Given the description of an element on the screen output the (x, y) to click on. 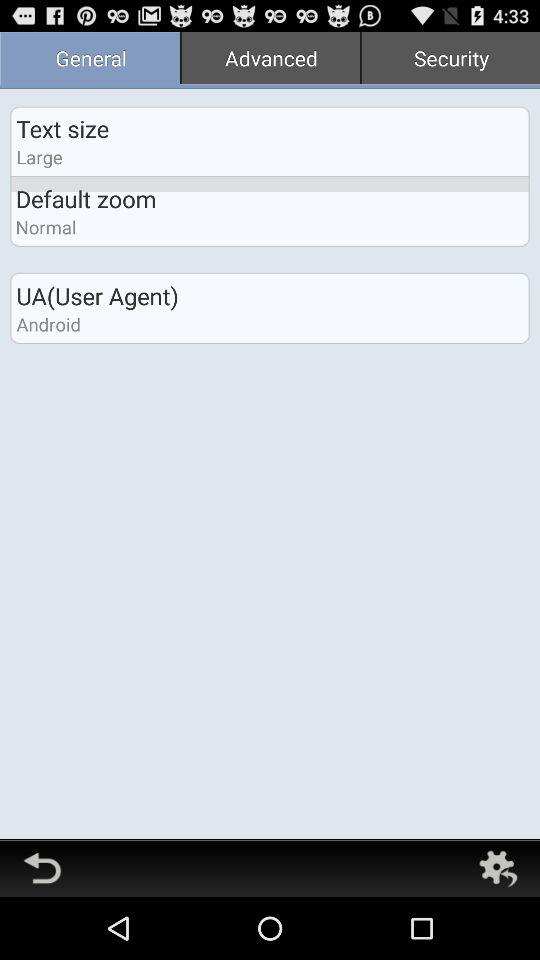
choose general icon (90, 60)
